Given the description of an element on the screen output the (x, y) to click on. 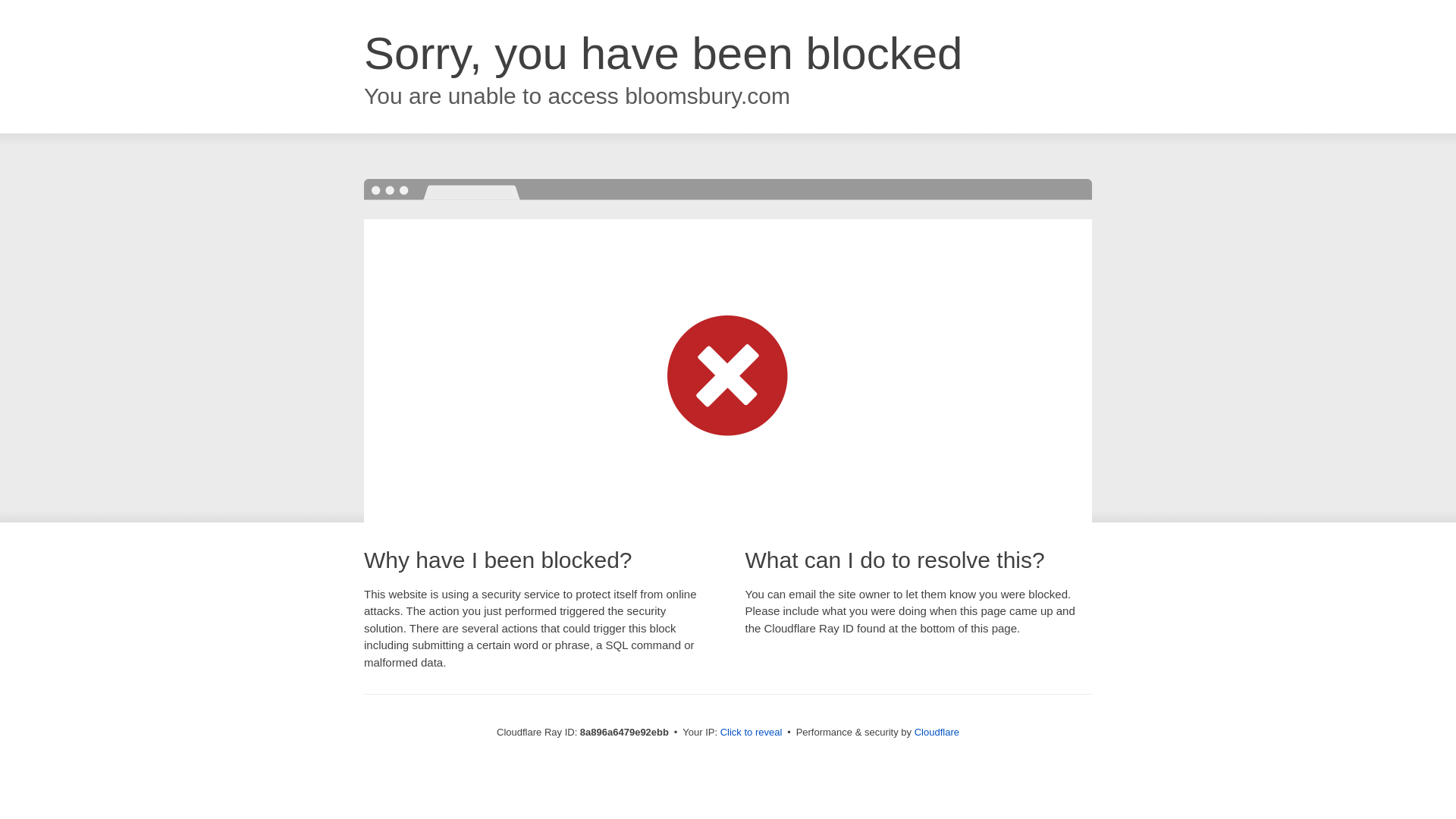
Click to reveal (751, 732)
Cloudflare (936, 731)
